Given the description of an element on the screen output the (x, y) to click on. 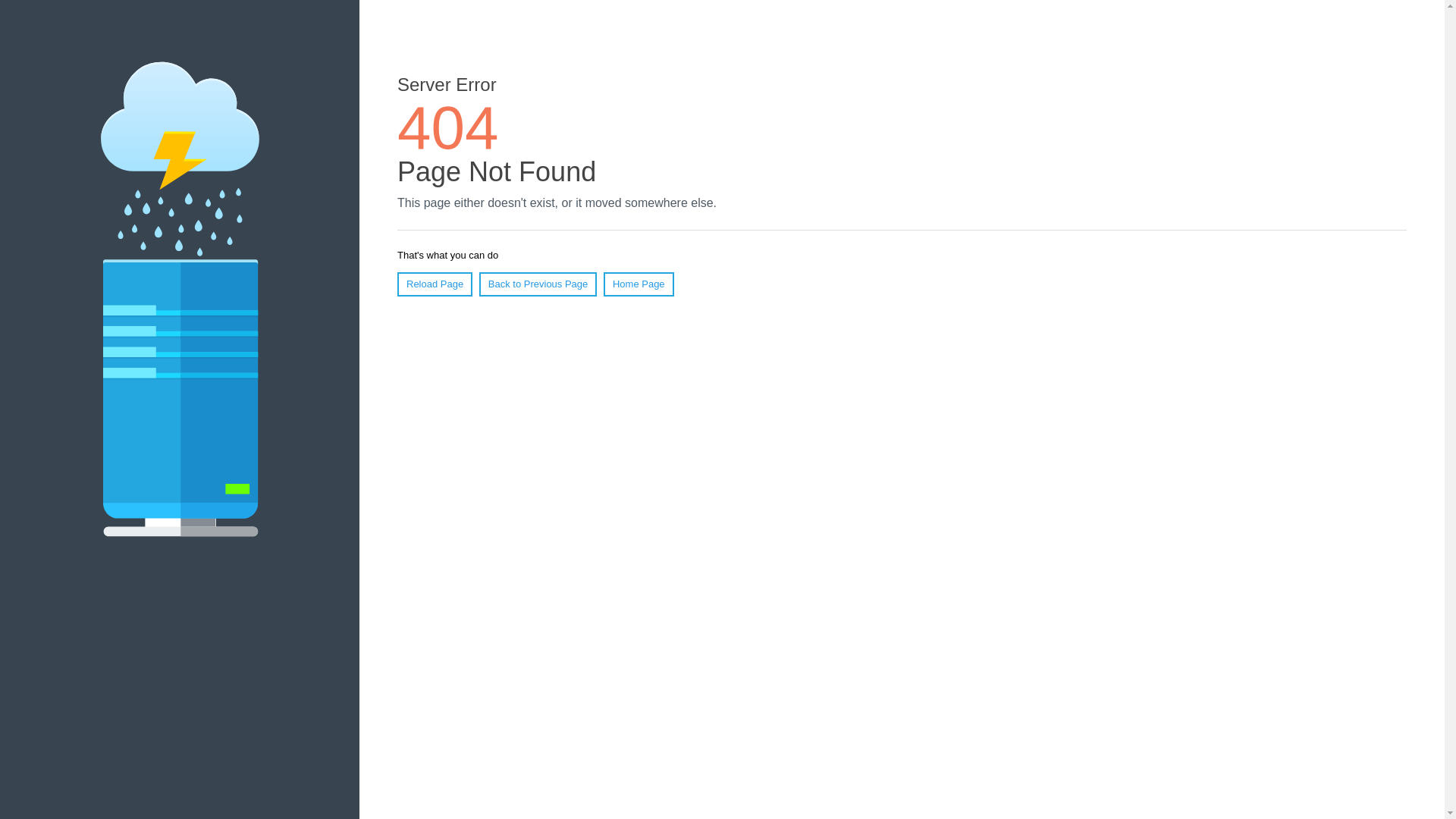
Back to Previous Page Element type: text (538, 284)
Home Page Element type: text (638, 284)
Reload Page Element type: text (434, 284)
